Given the description of an element on the screen output the (x, y) to click on. 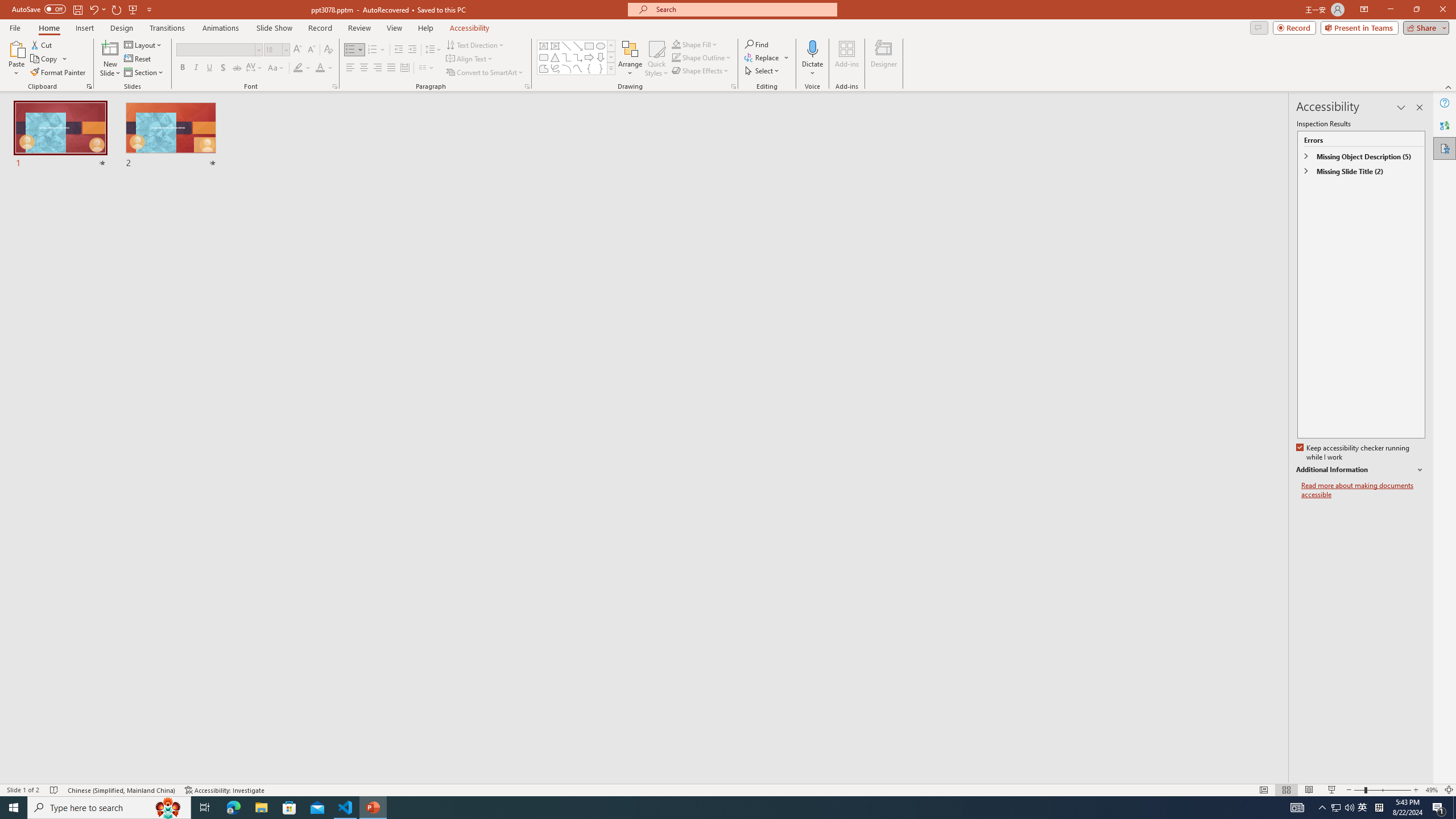
Zoom 49% (1431, 790)
